Given the description of an element on the screen output the (x, y) to click on. 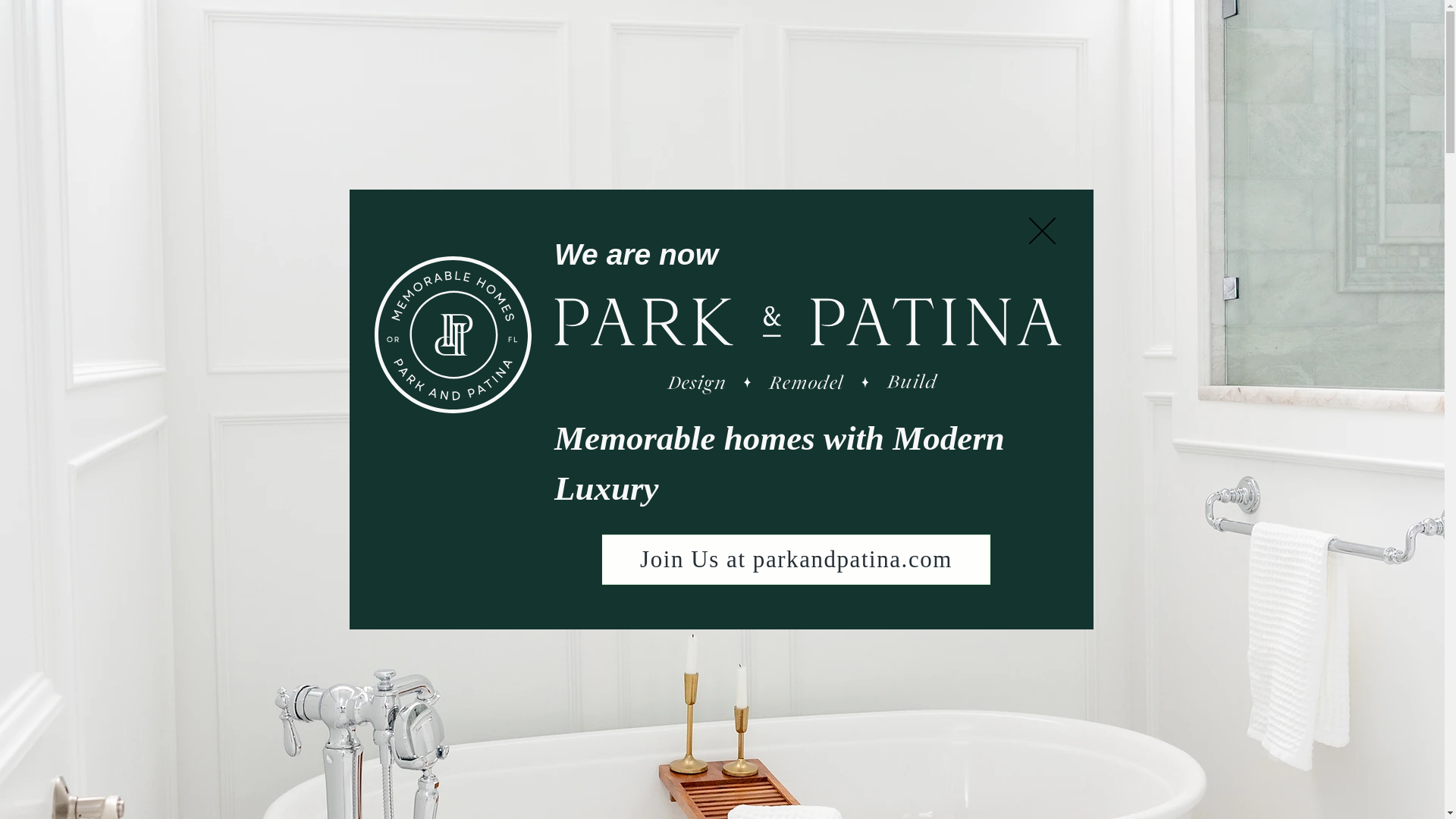
Process (637, 25)
Kitchen And Bath Plus Longwood Luxury Remodel (278, 29)
About Us (471, 25)
407-904-9276 (1180, 21)
Back to site (1042, 230)
Contact (717, 25)
Join Us at parkandpatina.com (796, 559)
Portfolio (557, 25)
Request a Consultation (721, 691)
WORK WITH US (1011, 29)
Home (393, 25)
